Given the description of an element on the screen output the (x, y) to click on. 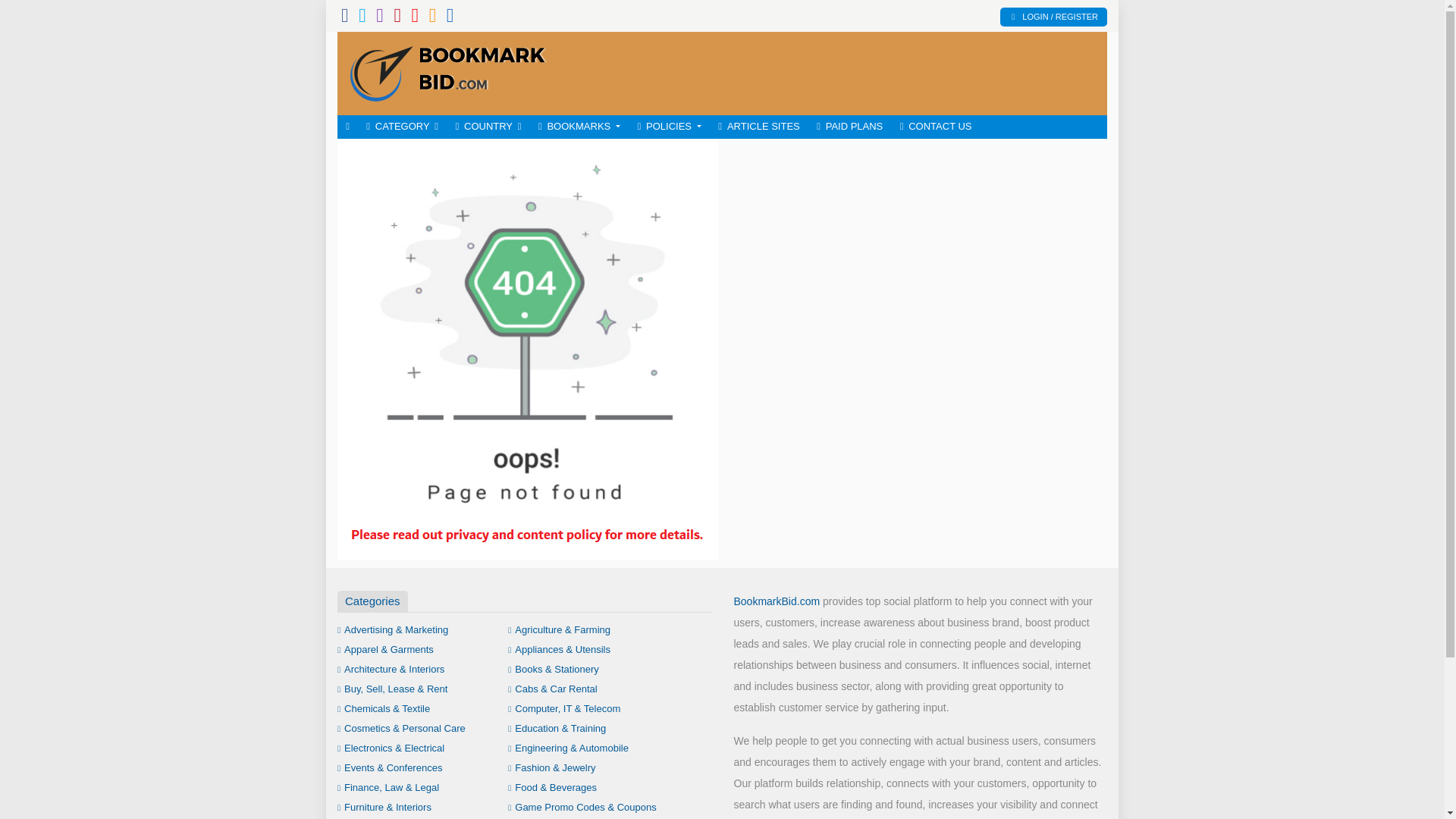
COUNTRY (487, 126)
CATEGORY (402, 126)
Great Platform to Store, Manage and Share Bookmarks (447, 71)
